Given the description of an element on the screen output the (x, y) to click on. 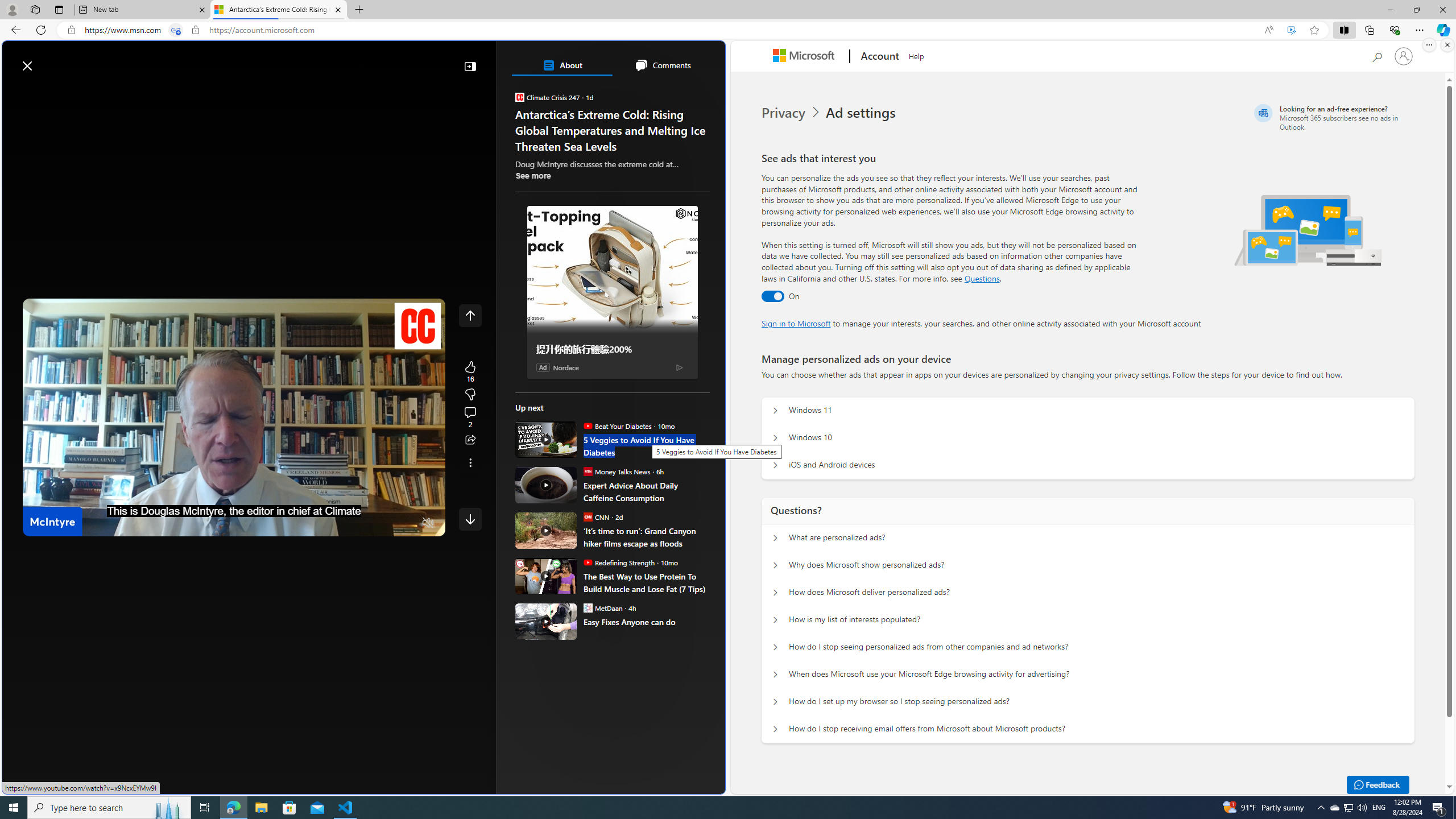
Share this story (469, 440)
Privacy (792, 112)
Climate Crisis 247 (519, 96)
Manage personalized ads on your device Windows 10 (775, 437)
Search Microsoft.com (1376, 54)
Open navigation menu (16, 92)
